Given the description of an element on the screen output the (x, y) to click on. 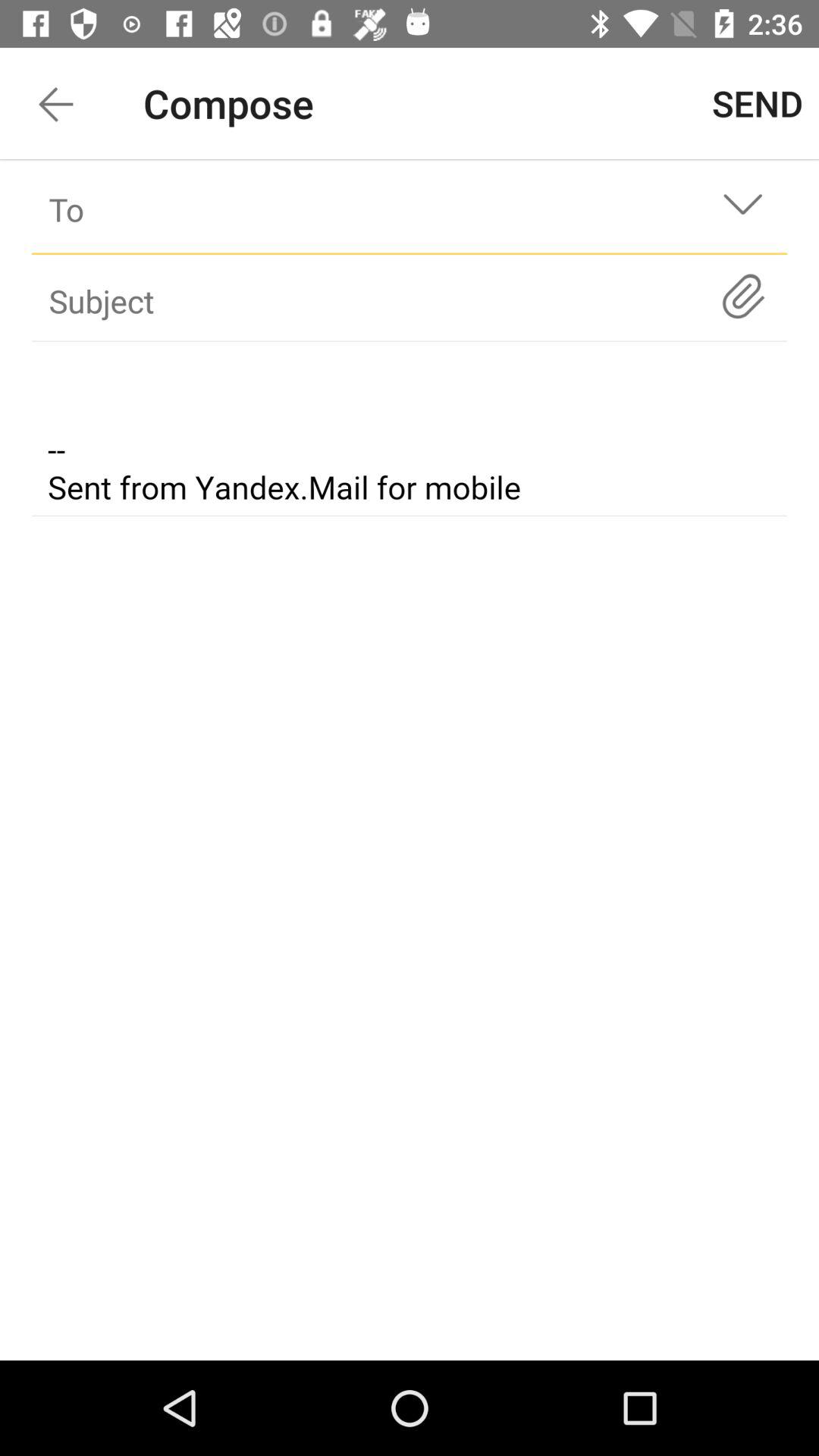
go to dropdown list (743, 209)
